Given the description of an element on the screen output the (x, y) to click on. 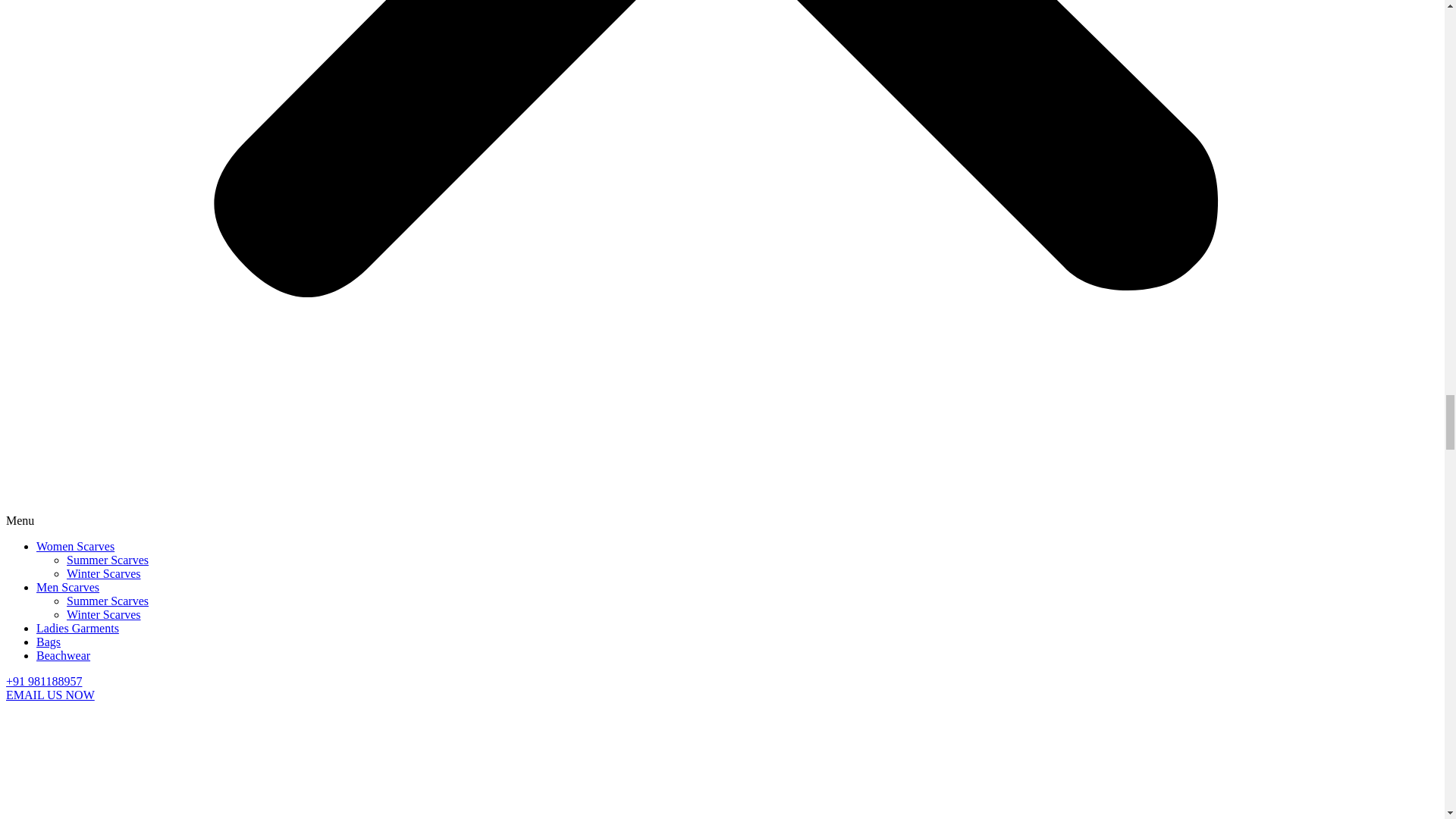
Winter Scarves (103, 614)
Winter Scarves (103, 573)
Women Scarves (75, 545)
Summer Scarves (107, 559)
Summer Scarves (107, 600)
Bags (48, 641)
Men Scarves (67, 586)
EMAIL US NOW (49, 694)
Beachwear (63, 655)
Ladies Garments (77, 627)
